Given the description of an element on the screen output the (x, y) to click on. 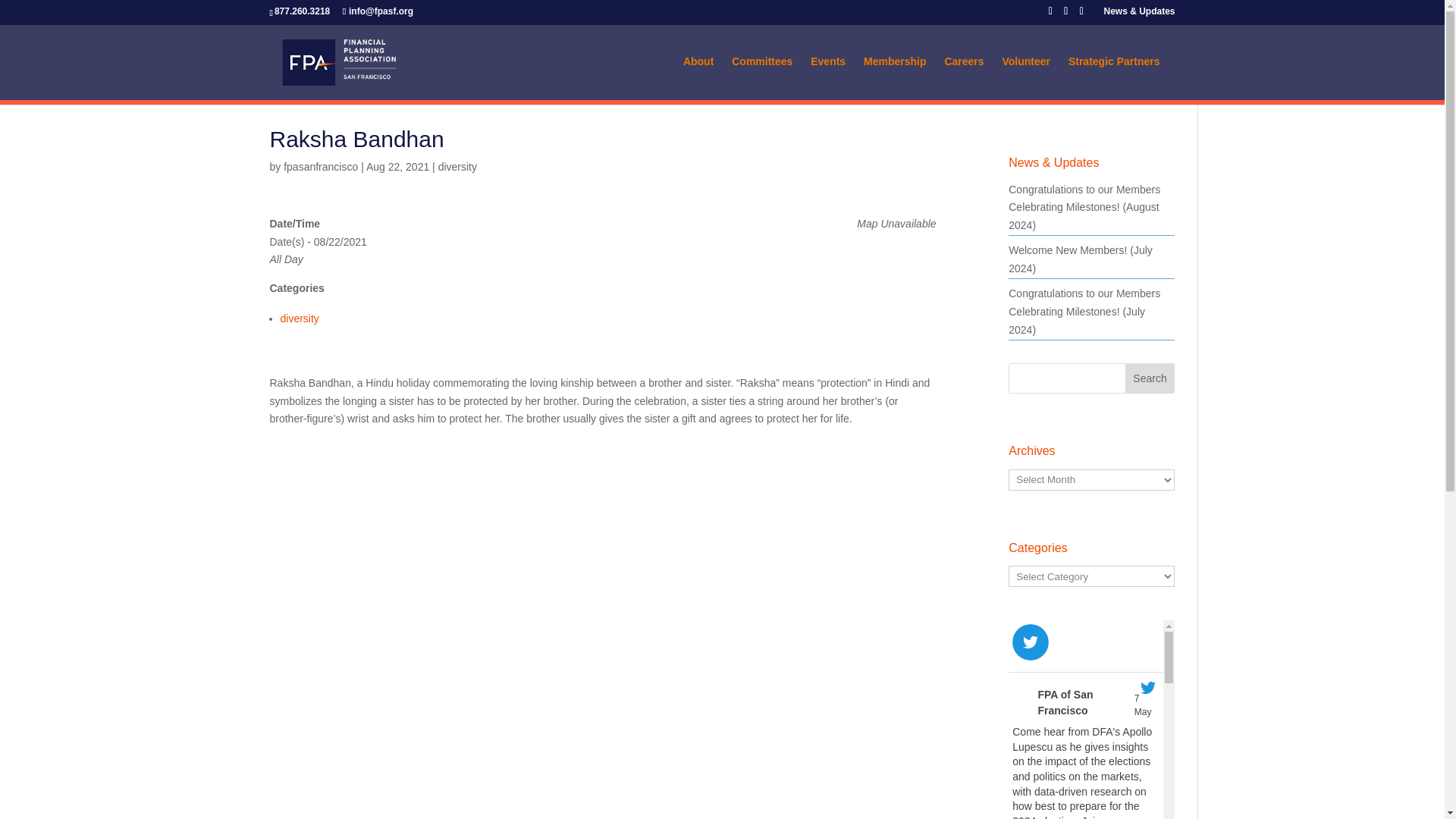
About (705, 77)
Search (1149, 378)
Careers (970, 77)
Posts by fpasanfrancisco (320, 166)
877.260.3218 (304, 10)
Committees (770, 77)
Membership (901, 77)
View all posts in diversity (457, 166)
Events (835, 77)
